Given the description of an element on the screen output the (x, y) to click on. 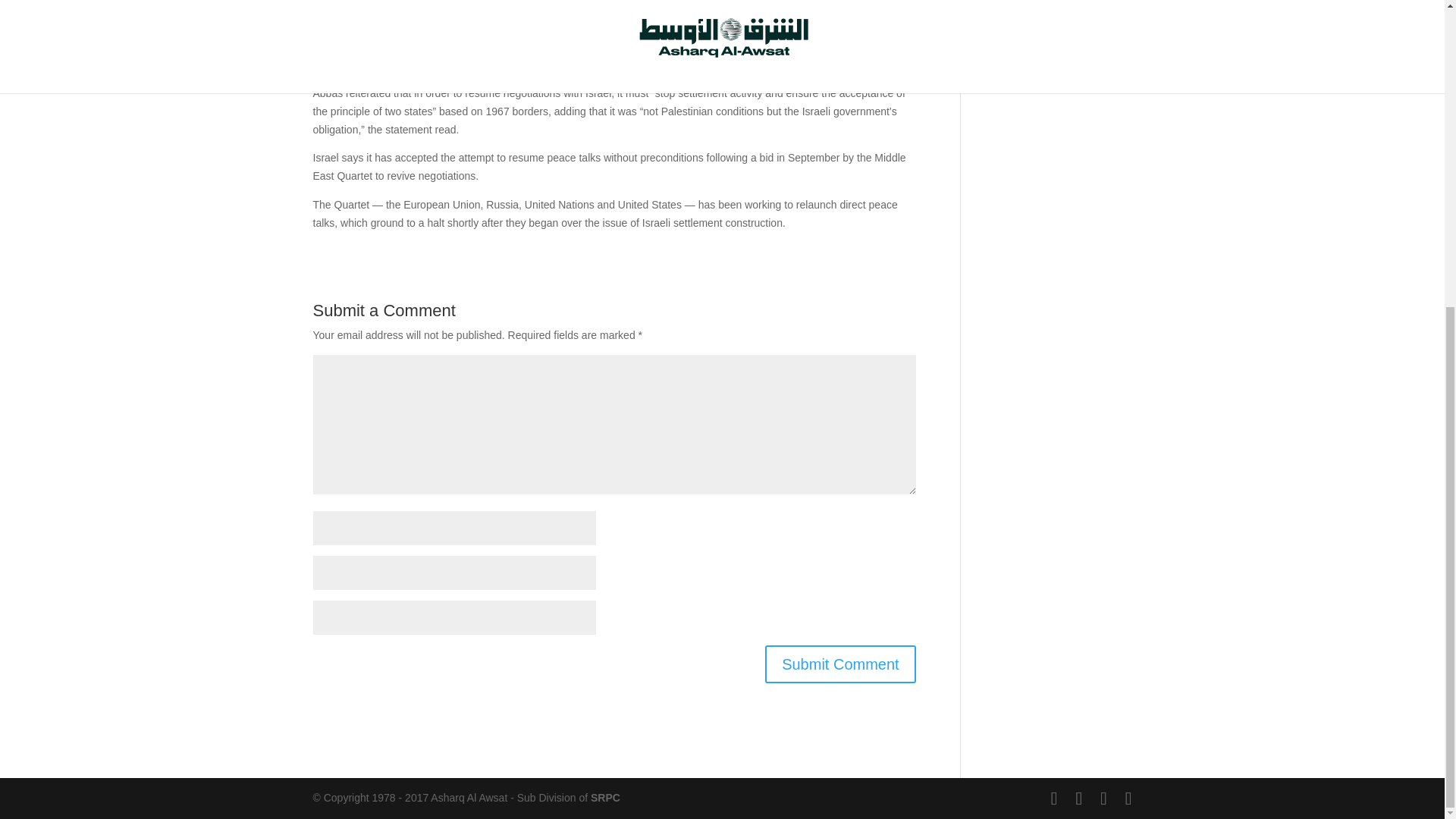
SRPC (605, 797)
Submit Comment (840, 664)
Submit Comment (840, 664)
